Given the description of an element on the screen output the (x, y) to click on. 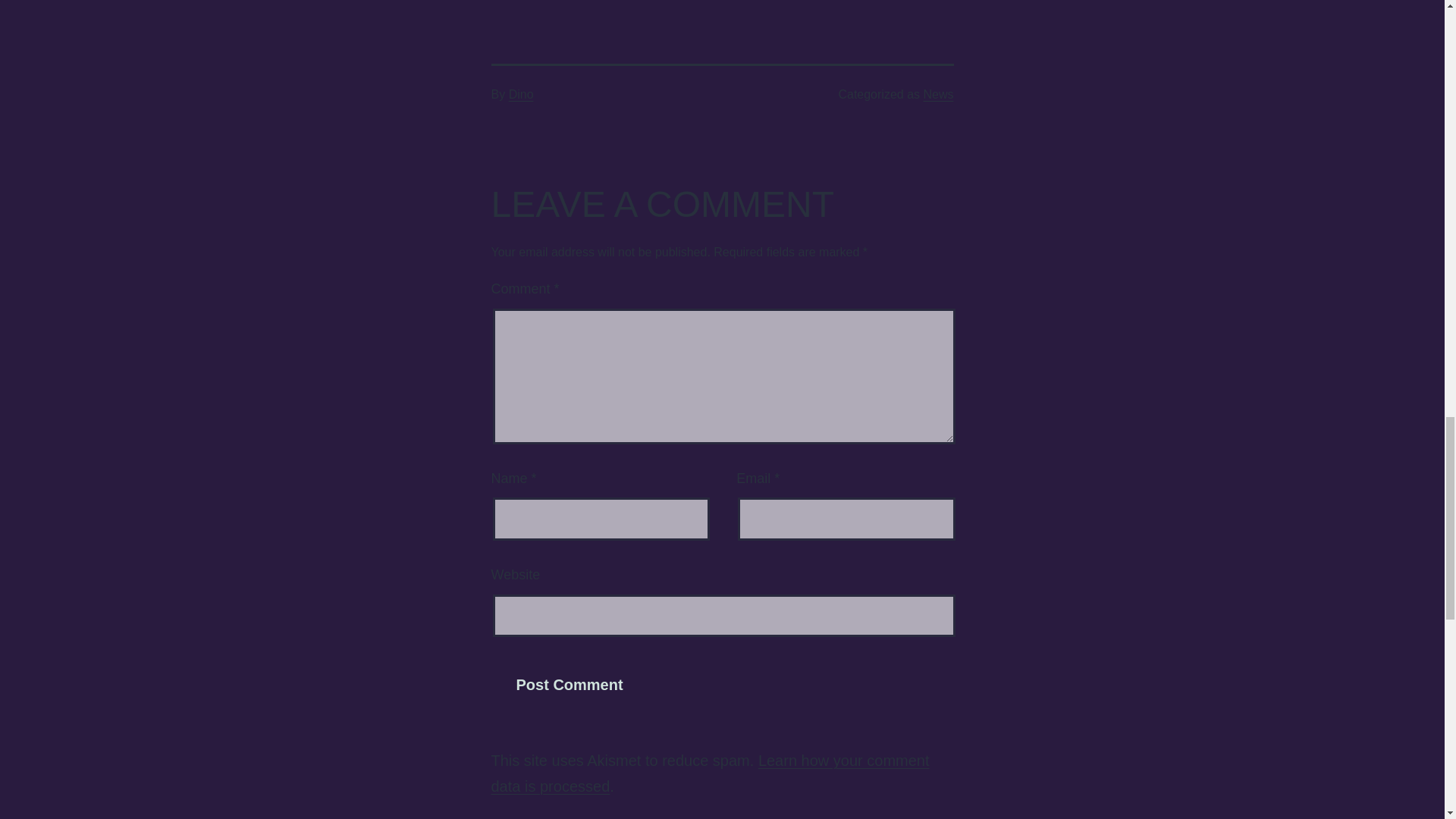
News (938, 93)
Learn how your comment data is processed (711, 773)
Post Comment (569, 685)
Post Comment (569, 685)
Dino (521, 93)
